Given the description of an element on the screen output the (x, y) to click on. 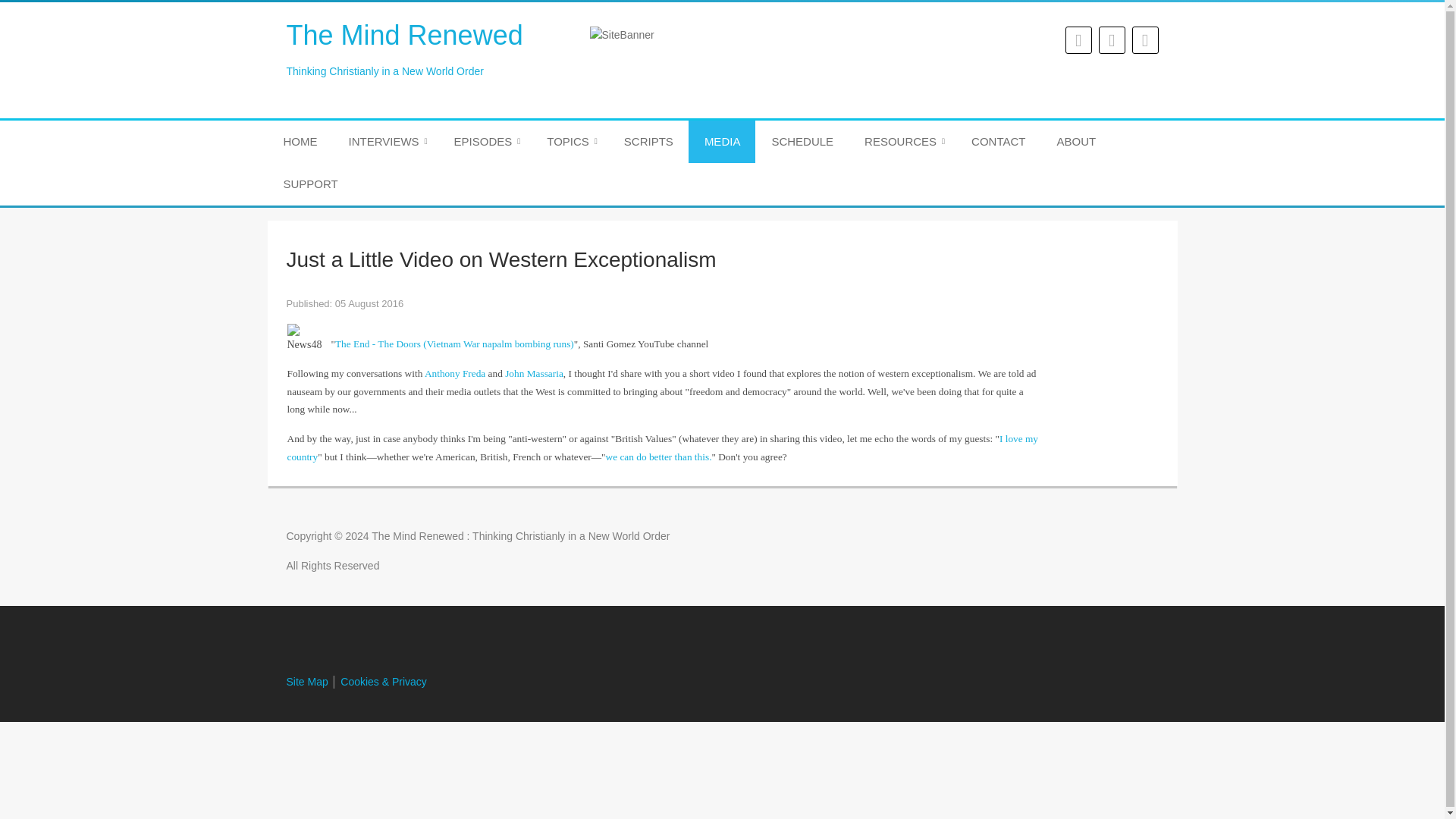
TOPICS (569, 141)
EPISODES (485, 141)
HOME (300, 141)
INTERVIEWS (385, 141)
